Given the description of an element on the screen output the (x, y) to click on. 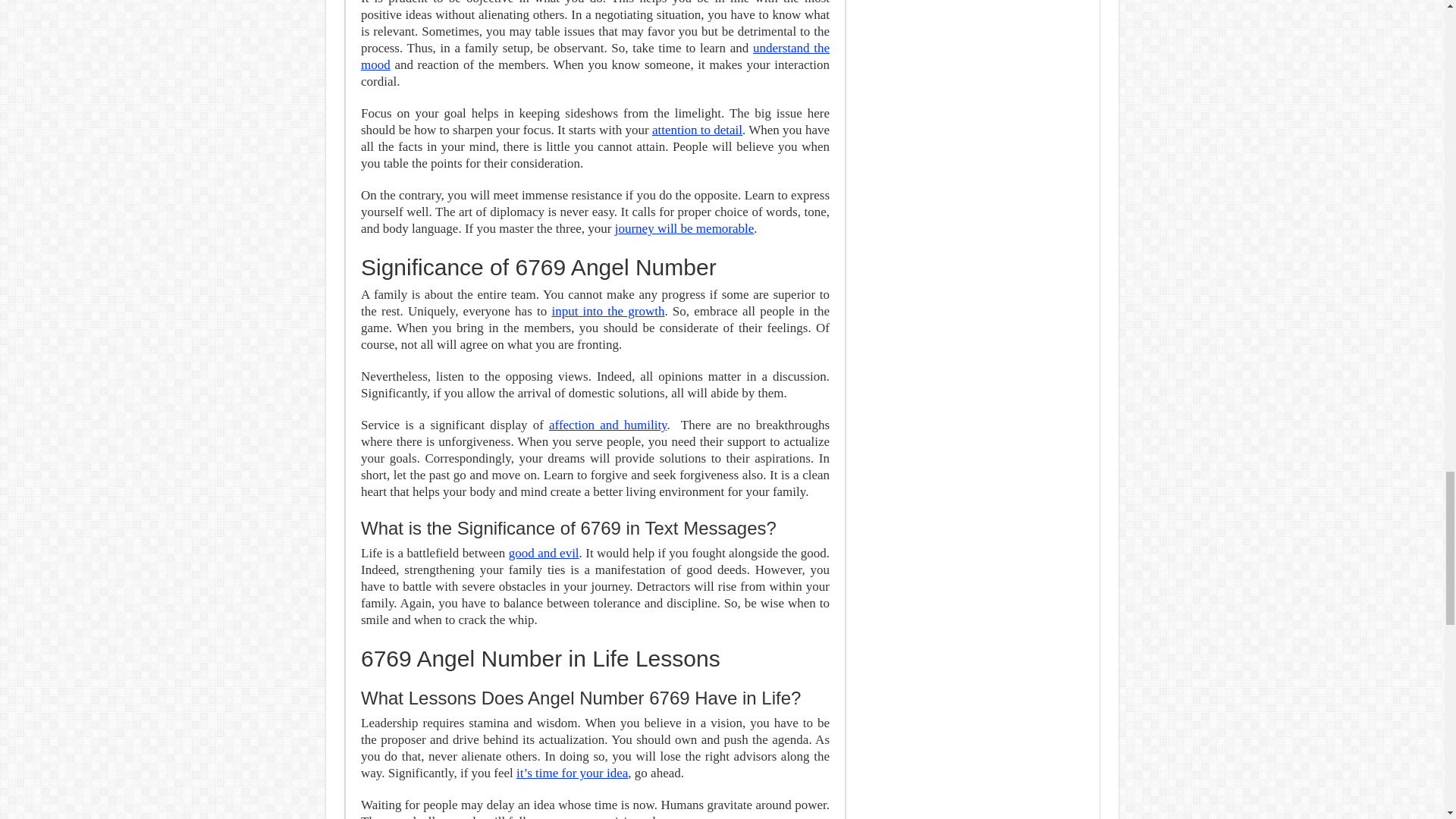
affection and humility (607, 424)
input into the growth (607, 310)
understand the mood (595, 56)
journey will be memorable (684, 228)
attention to detail (697, 129)
